Given the description of an element on the screen output the (x, y) to click on. 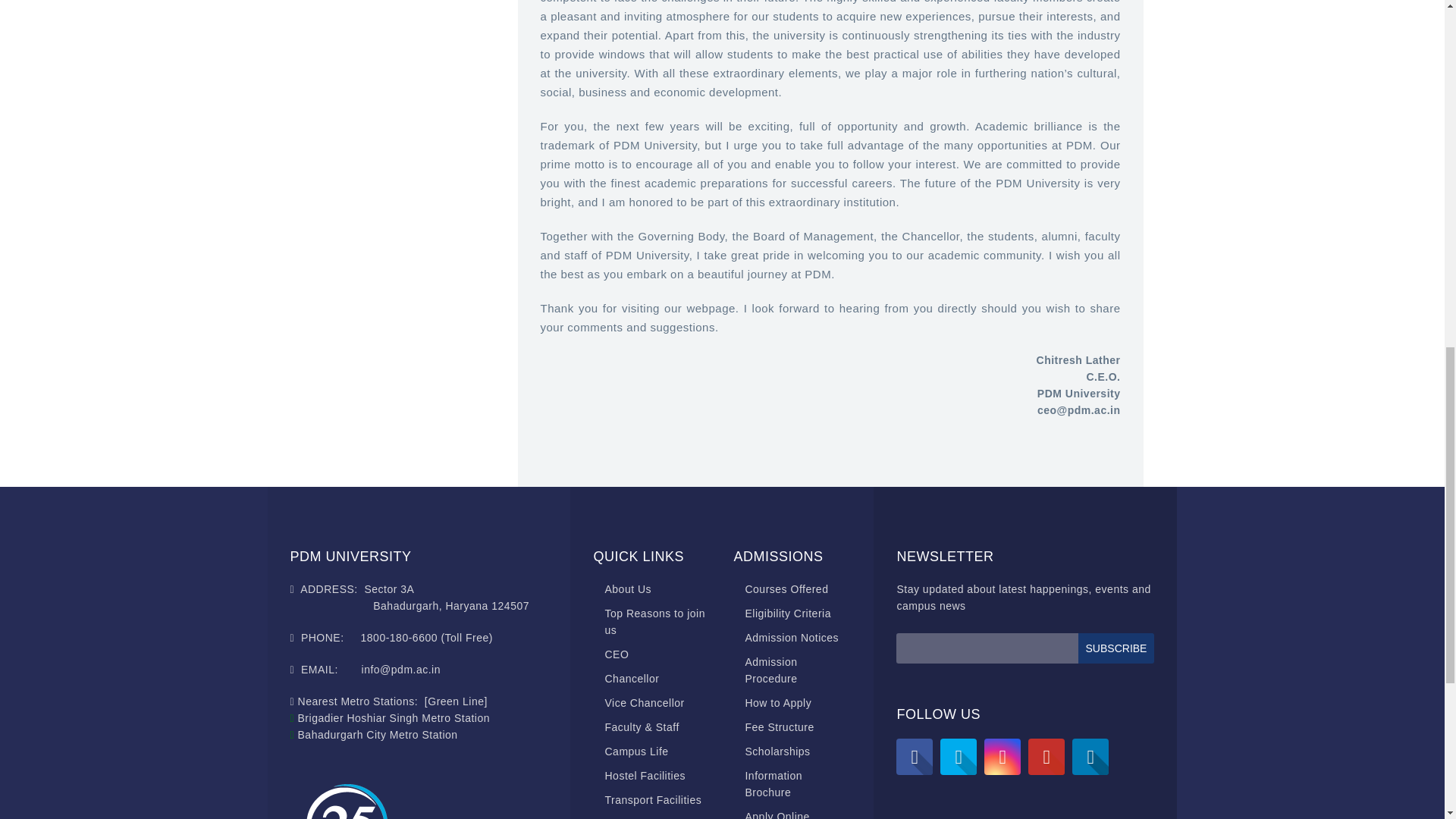
Subscribe (1116, 648)
